Given the description of an element on the screen output the (x, y) to click on. 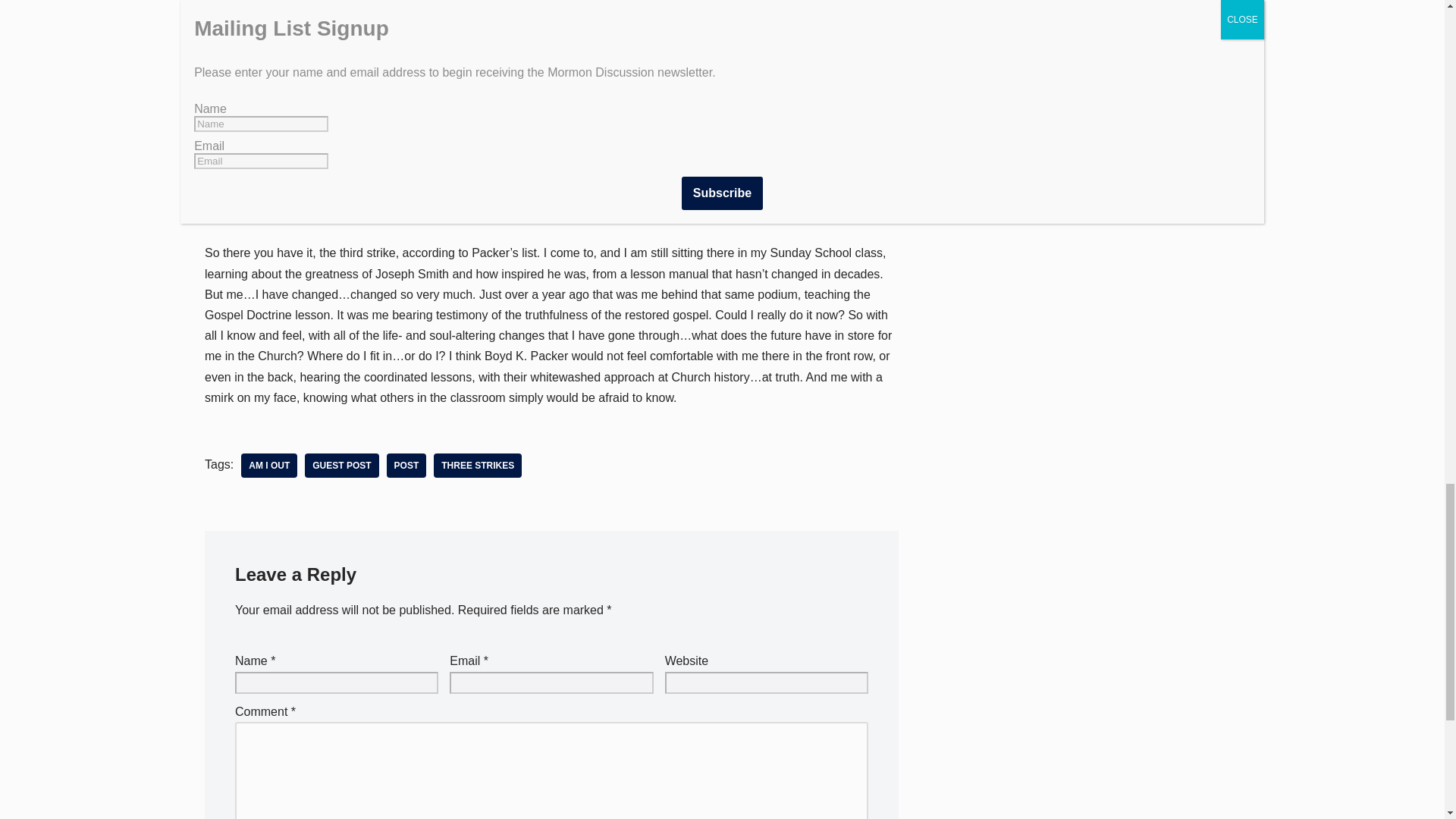
am I out (269, 465)
Post (406, 465)
AM I OUT (269, 465)
POST (406, 465)
three strikes (477, 465)
THREE STRIKES (477, 465)
GUEST POST (341, 465)
guest post (341, 465)
